Given the description of an element on the screen output the (x, y) to click on. 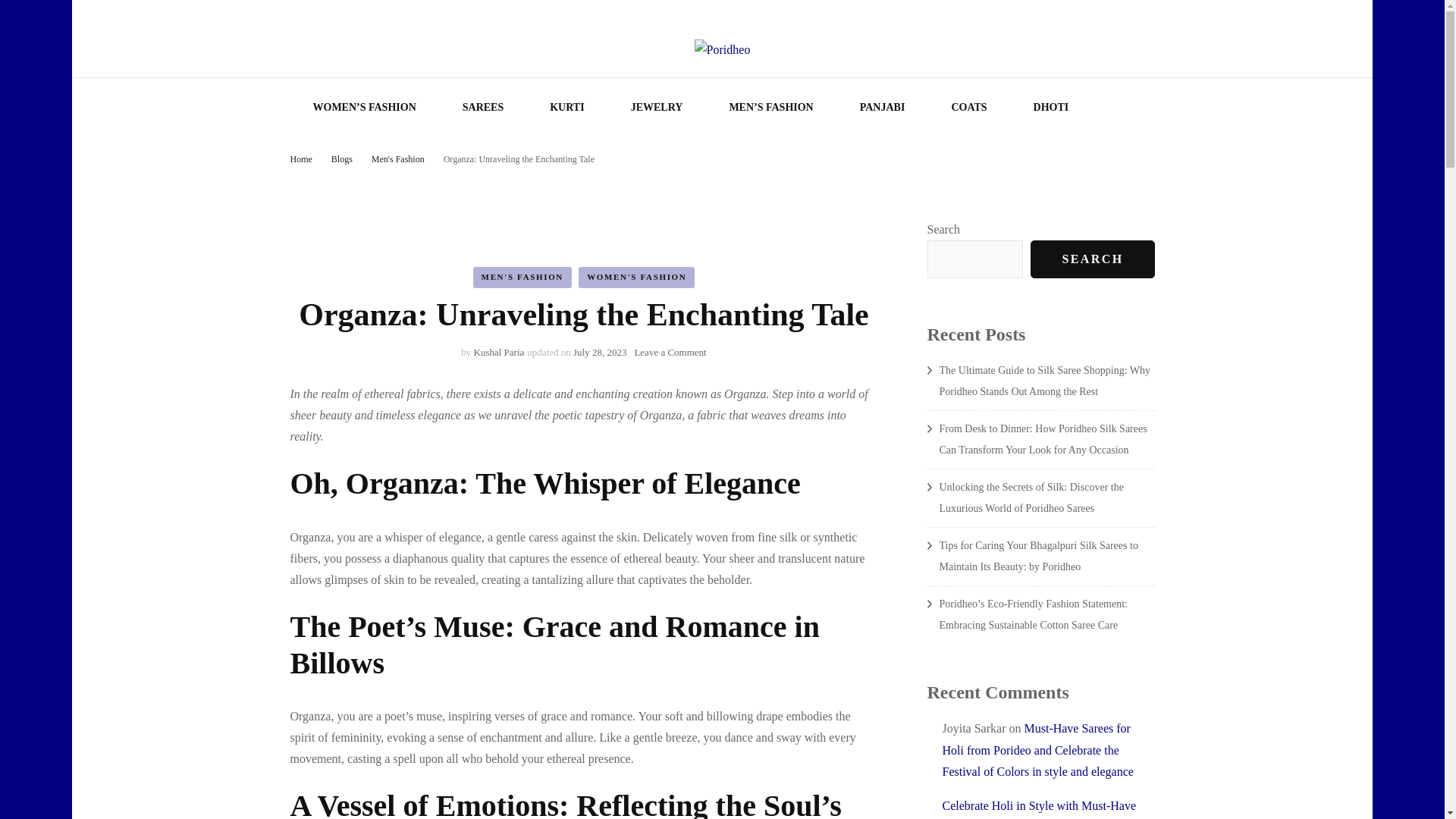
DHOTI (1051, 107)
SAREES (482, 107)
JEWELRY (657, 107)
KURTI (567, 107)
COATS (669, 351)
MEN'S FASHION (968, 107)
Men's Fashion (522, 277)
Organza: Unraveling the Enchanting Tale (398, 158)
July 28, 2023 (519, 158)
WOMEN'S FASHION (599, 351)
PANJABI (636, 277)
Poridheo Blogs (882, 107)
Blogs (598, 106)
Home (343, 158)
